Given the description of an element on the screen output the (x, y) to click on. 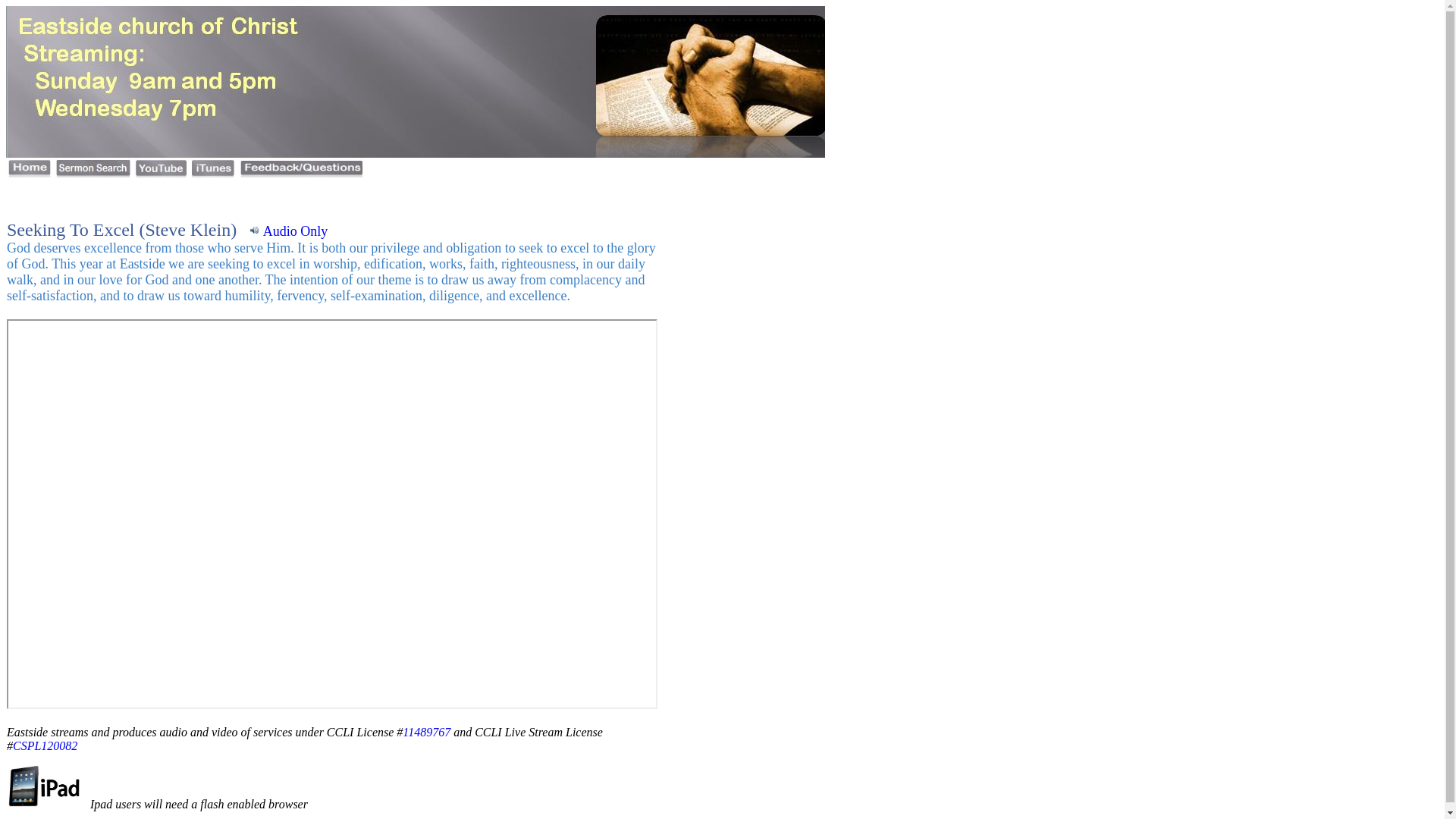
11489767 (426, 731)
CSPL120082 (45, 745)
 Audio Only (287, 231)
